Given the description of an element on the screen output the (x, y) to click on. 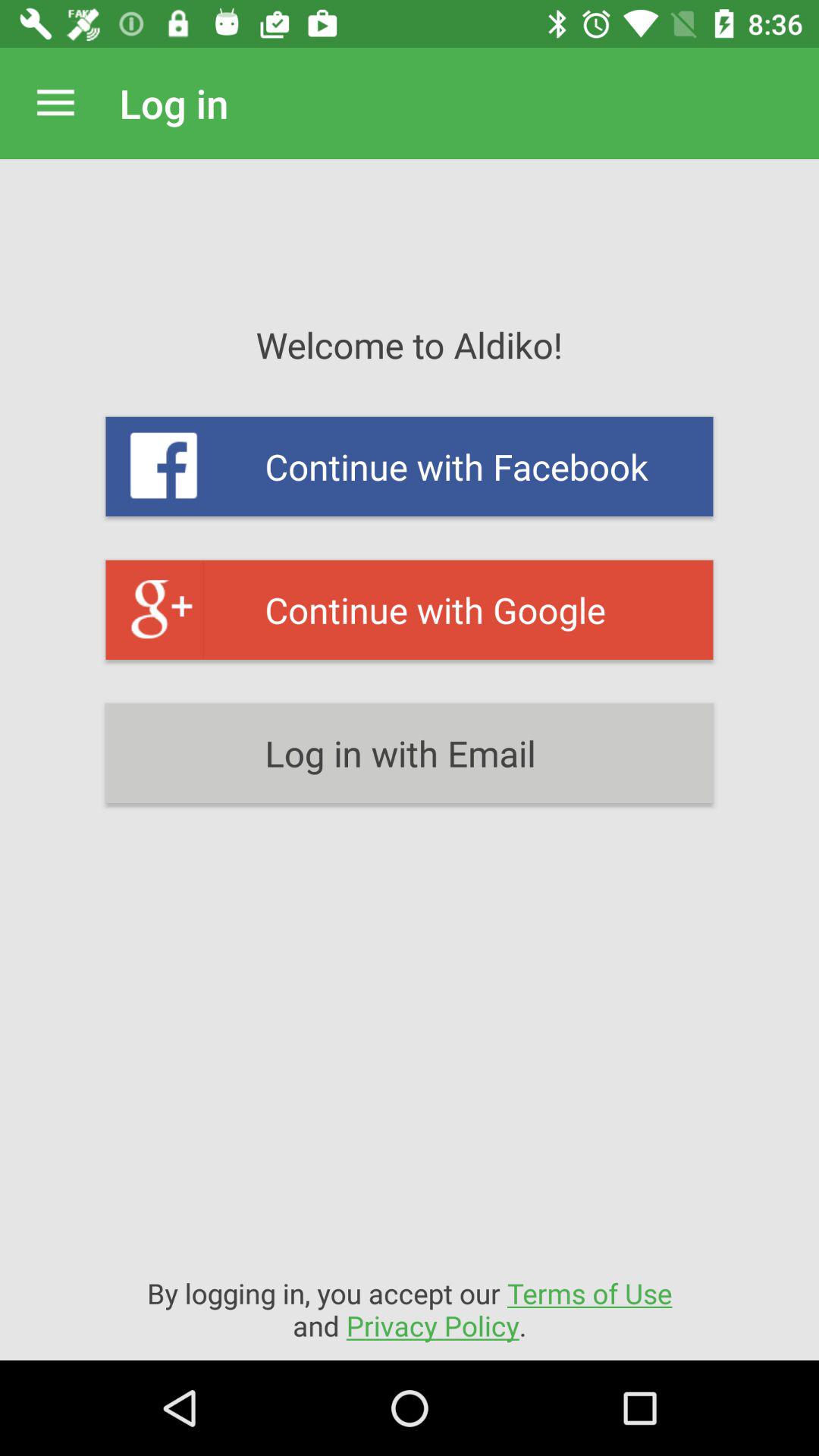
select icon below the log in with item (409, 1309)
